Given the description of an element on the screen output the (x, y) to click on. 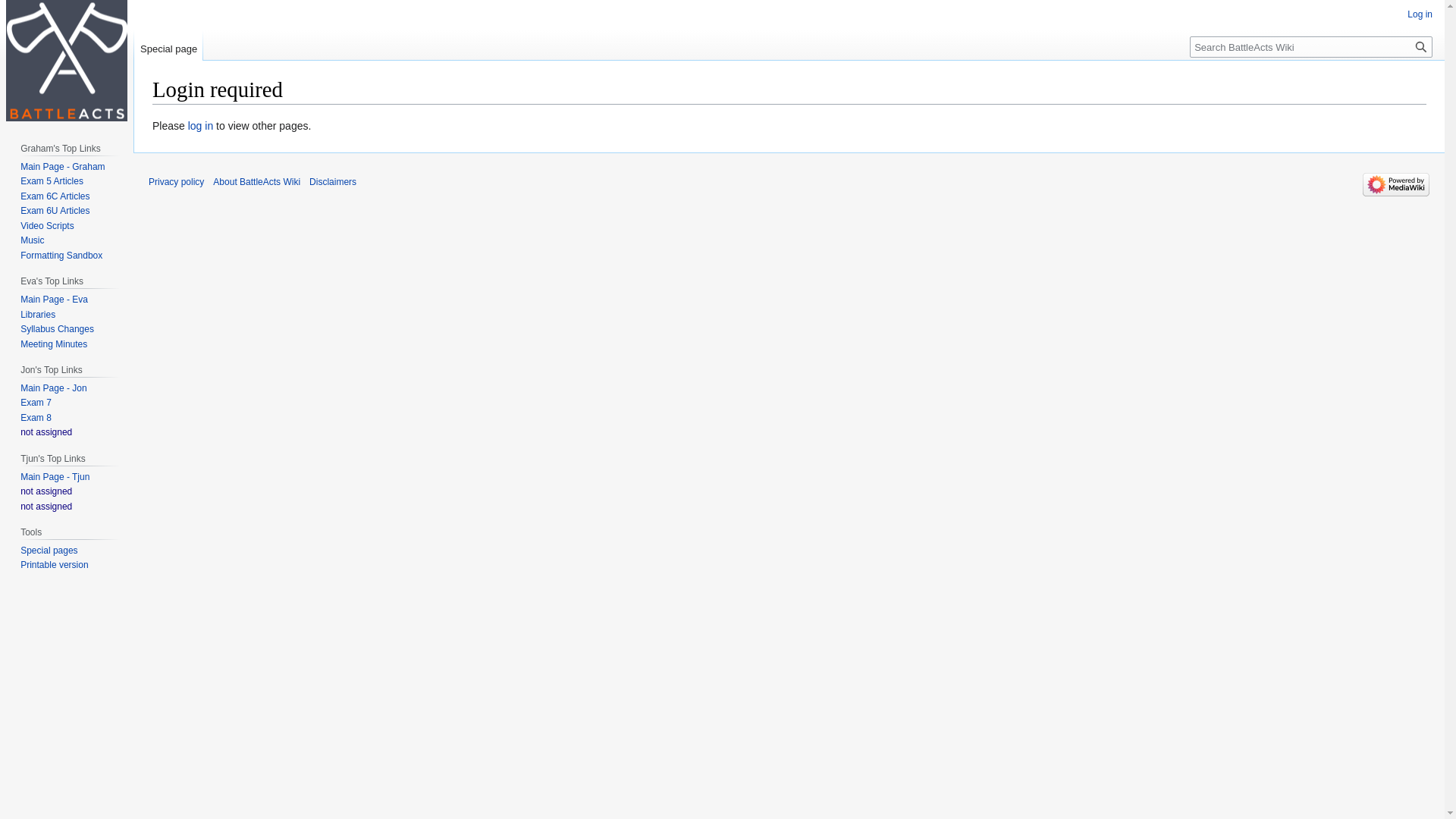
Privacy policy Element type: text (175, 181)
Special page Element type: text (168, 45)
About BattleActs Wiki Element type: text (256, 181)
log in Element type: text (200, 125)
Main Page - Tjun Element type: text (54, 476)
Search the pages for this text Element type: hover (1420, 46)
Exam 8 Element type: text (35, 417)
Exam 5 Articles Element type: text (51, 180)
Search BattleActs Wiki [alt-shift-f] Element type: hover (1310, 46)
not assigned Element type: text (46, 431)
Printable version Element type: text (53, 564)
Jump to navigation Element type: text (151, 116)
Exam 6U Articles Element type: text (54, 210)
Disclaimers Element type: text (332, 181)
Main Page - Graham Element type: text (62, 166)
Search Element type: text (1420, 46)
Log in Element type: text (1419, 14)
Exam 7 Element type: text (35, 402)
Main Page - Eva Element type: text (53, 299)
Formatting Sandbox Element type: text (61, 255)
not assigned Element type: text (46, 506)
Special pages Element type: text (48, 550)
Exam 6C Articles Element type: text (54, 196)
Visit the main page Element type: hover (66, 60)
not assigned Element type: text (46, 491)
Meeting Minutes Element type: text (53, 343)
Video Scripts Element type: text (46, 225)
Main Page - Jon Element type: text (53, 387)
Syllabus Changes Element type: text (57, 328)
Libraries Element type: text (37, 314)
Music Element type: text (31, 240)
